Given the description of an element on the screen output the (x, y) to click on. 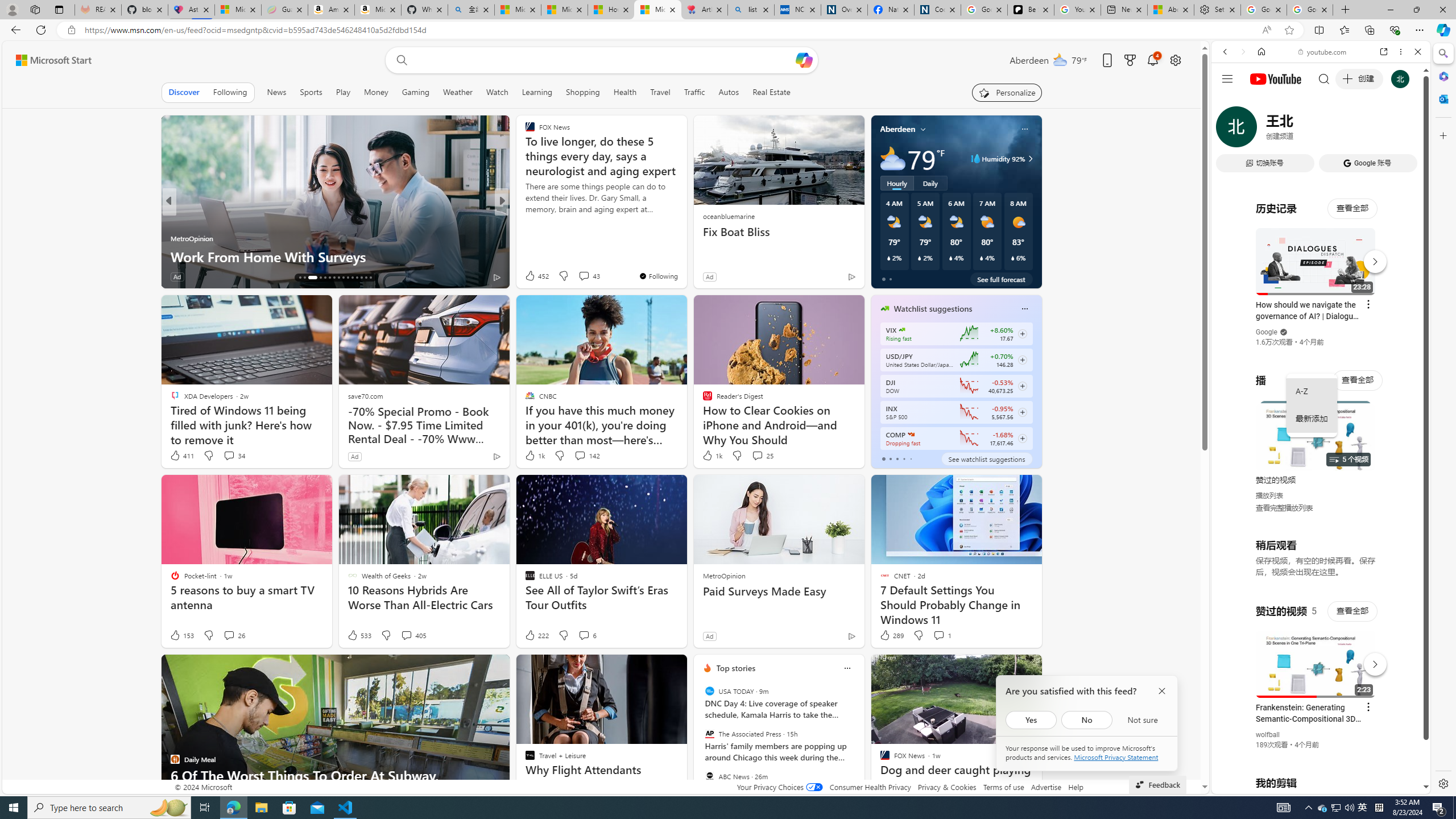
NCL Adult Asthma Inhaler Choice Guideline (797, 9)
Open settings (1175, 60)
USA TODAY (709, 691)
Top stories (735, 668)
wolfball (1268, 734)
10 Things Scientists Can't Explain and Attribute to God (684, 247)
Nordace (532, 238)
AutomationID: tab-18 (309, 277)
Learning (536, 92)
Be Smart | creating Science videos | Patreon (1030, 9)
AutomationID: tab-29 (366, 277)
View comments 34 Comment (228, 455)
